Given the description of an element on the screen output the (x, y) to click on. 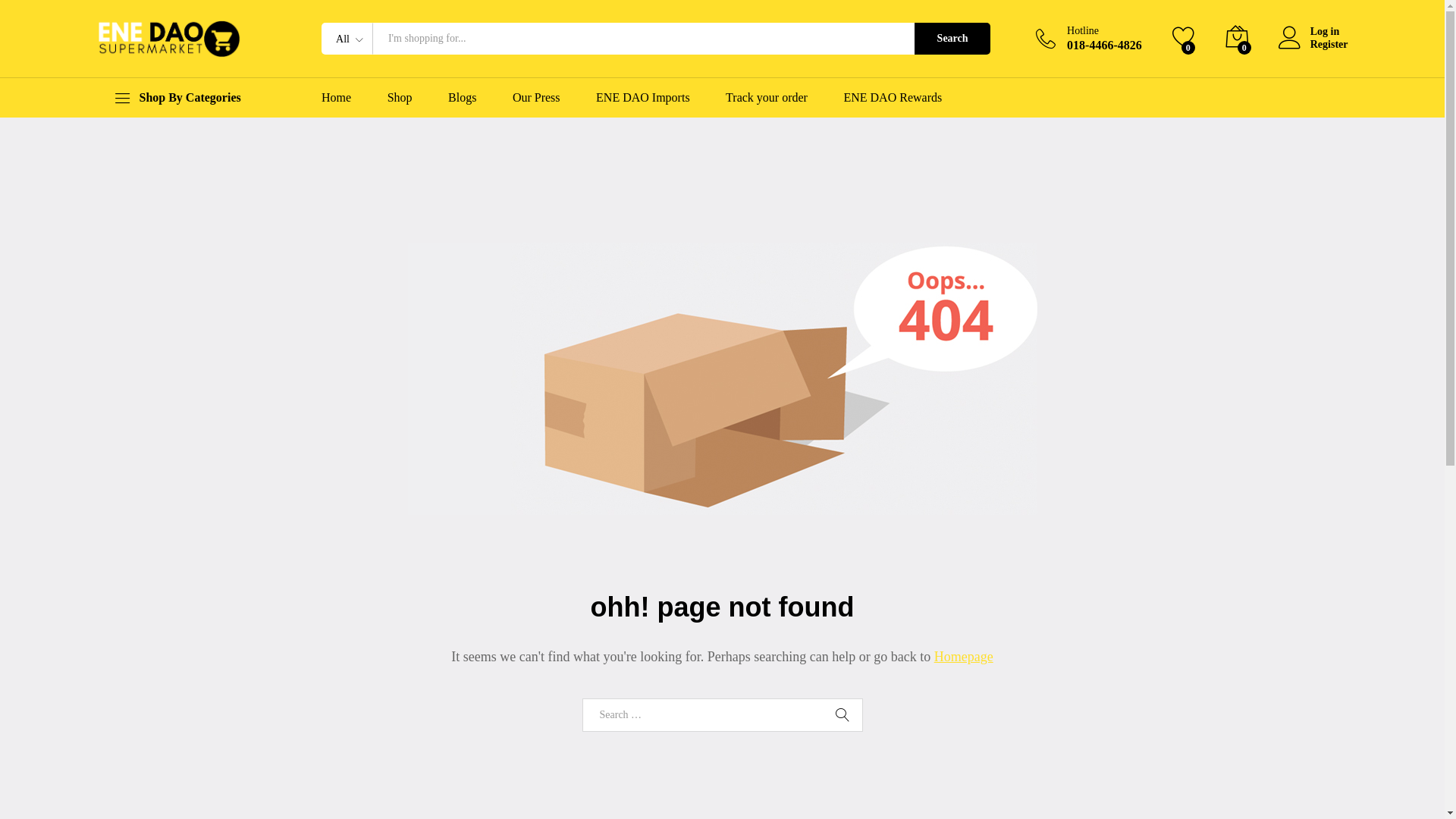
0 Element type: text (1236, 38)
ENE DAO Imports Element type: text (643, 97)
Our Press Element type: text (536, 97)
ENE DAO Rewards Element type: text (892, 97)
Search Element type: text (952, 38)
Blogs Element type: text (462, 97)
Log in Element type: text (1313, 31)
Shop Element type: text (399, 97)
Register Element type: text (1313, 44)
Hotline
018-4466-4826 Element type: text (1088, 38)
Homepage Element type: text (963, 656)
0 Element type: text (1183, 38)
Search Element type: text (843, 714)
Home Element type: text (336, 97)
Track your order Element type: text (766, 97)
